Given the description of an element on the screen output the (x, y) to click on. 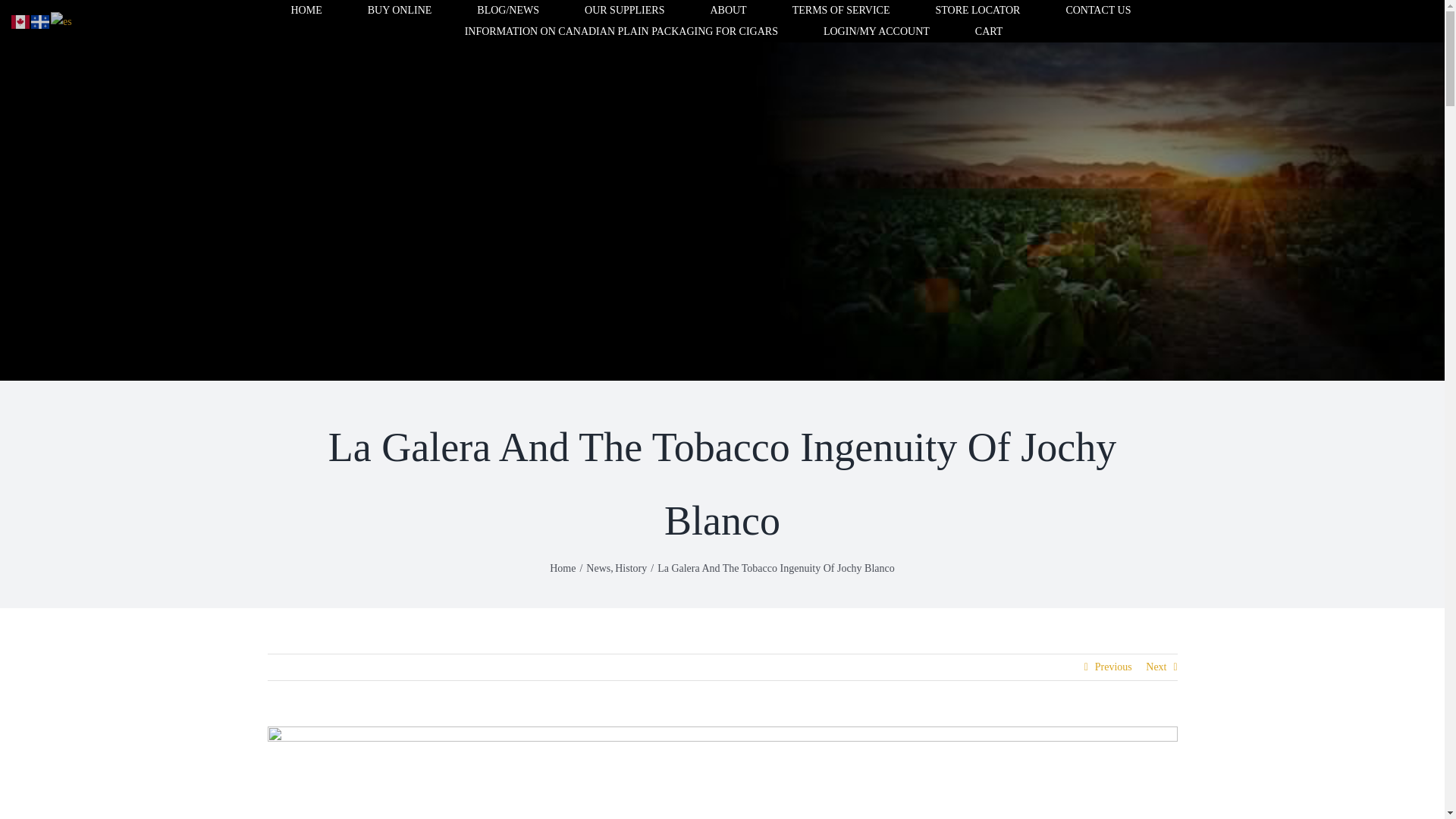
STORE LOCATOR (977, 10)
History (630, 568)
View Larger Image (721, 772)
Previous (1113, 667)
HOME (305, 10)
TERMS OF SERVICE (840, 10)
Home (562, 568)
ABOUT (727, 10)
CONTACT US (1098, 10)
CART (989, 31)
